Given the description of an element on the screen output the (x, y) to click on. 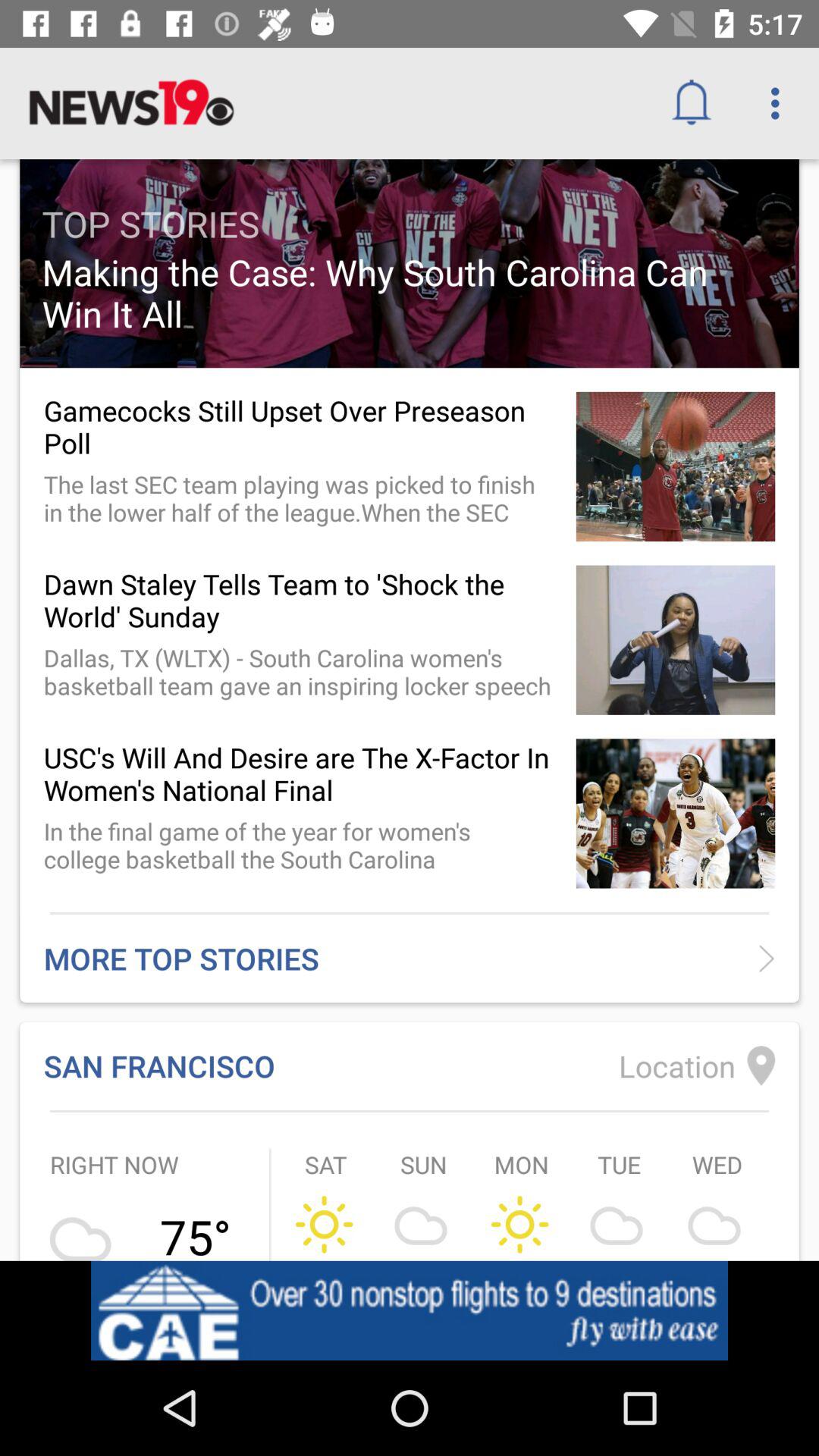
click on the image which is on the right of dawn staley tells team to shock the world sunday (675, 640)
select the symbol which is below sun (423, 1223)
